Given the description of an element on the screen output the (x, y) to click on. 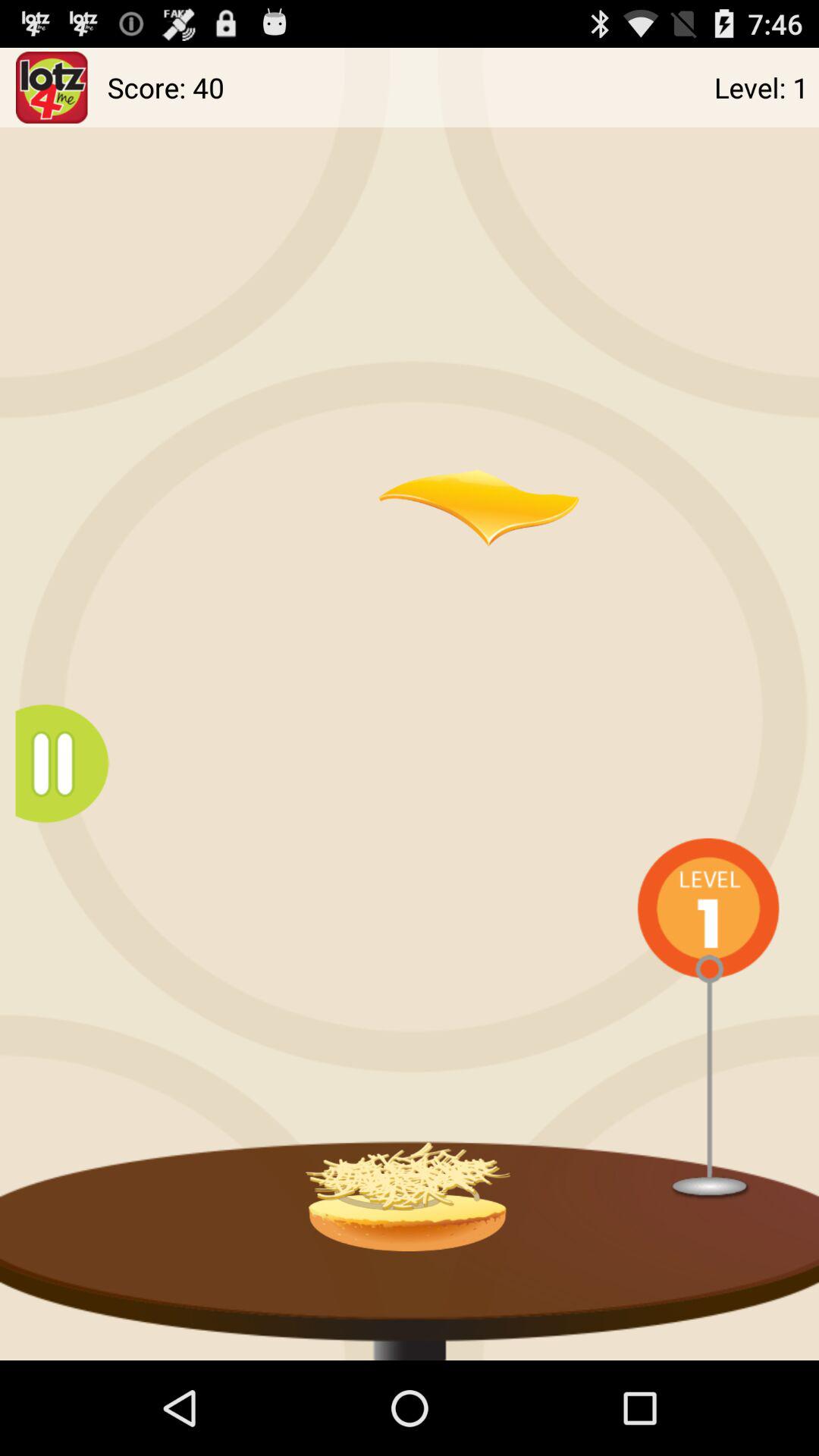
select the item next to score: 40 app (51, 87)
